Given the description of an element on the screen output the (x, y) to click on. 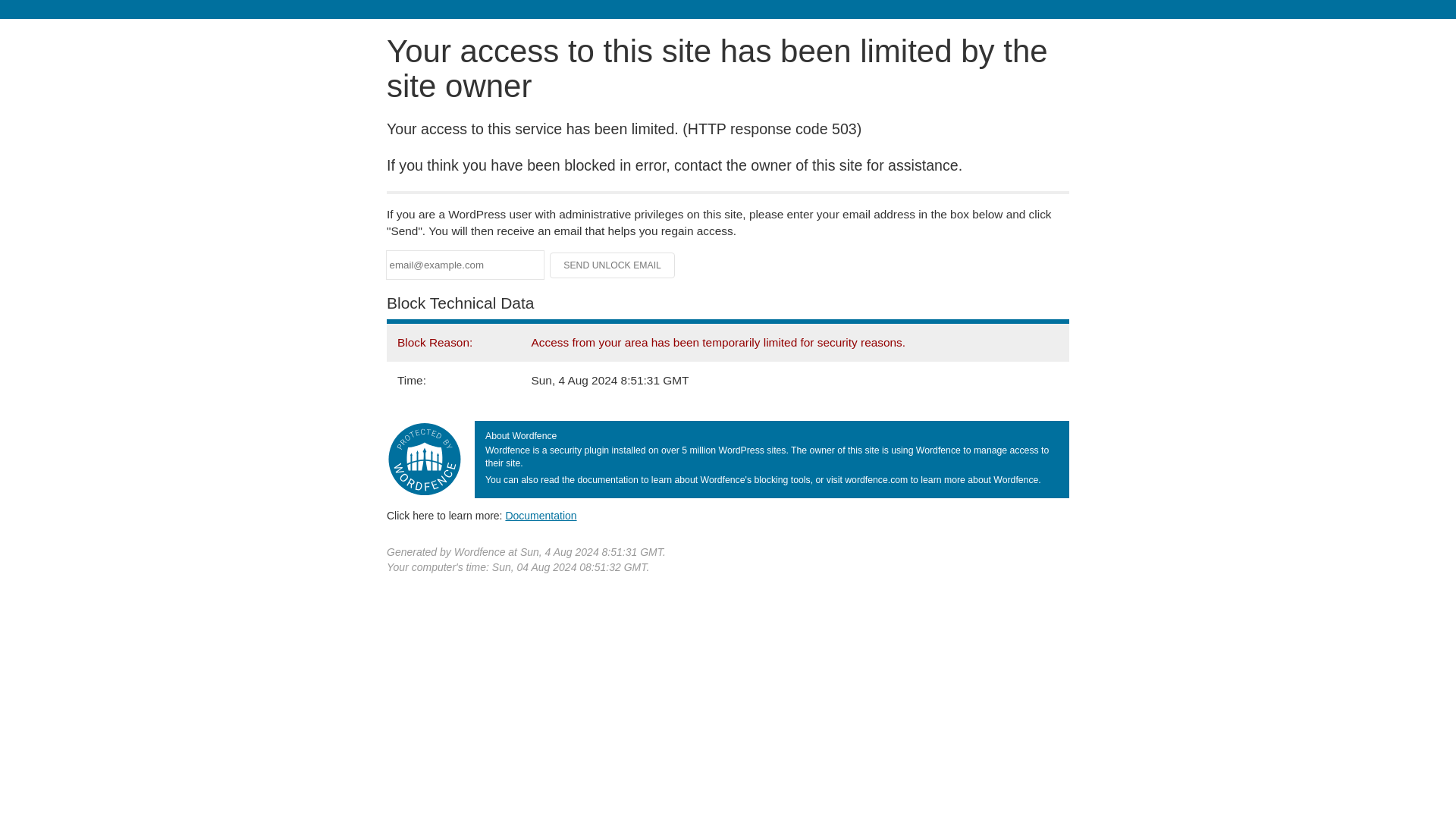
Documentation (540, 515)
Send Unlock Email (612, 265)
Send Unlock Email (612, 265)
